Given the description of an element on the screen output the (x, y) to click on. 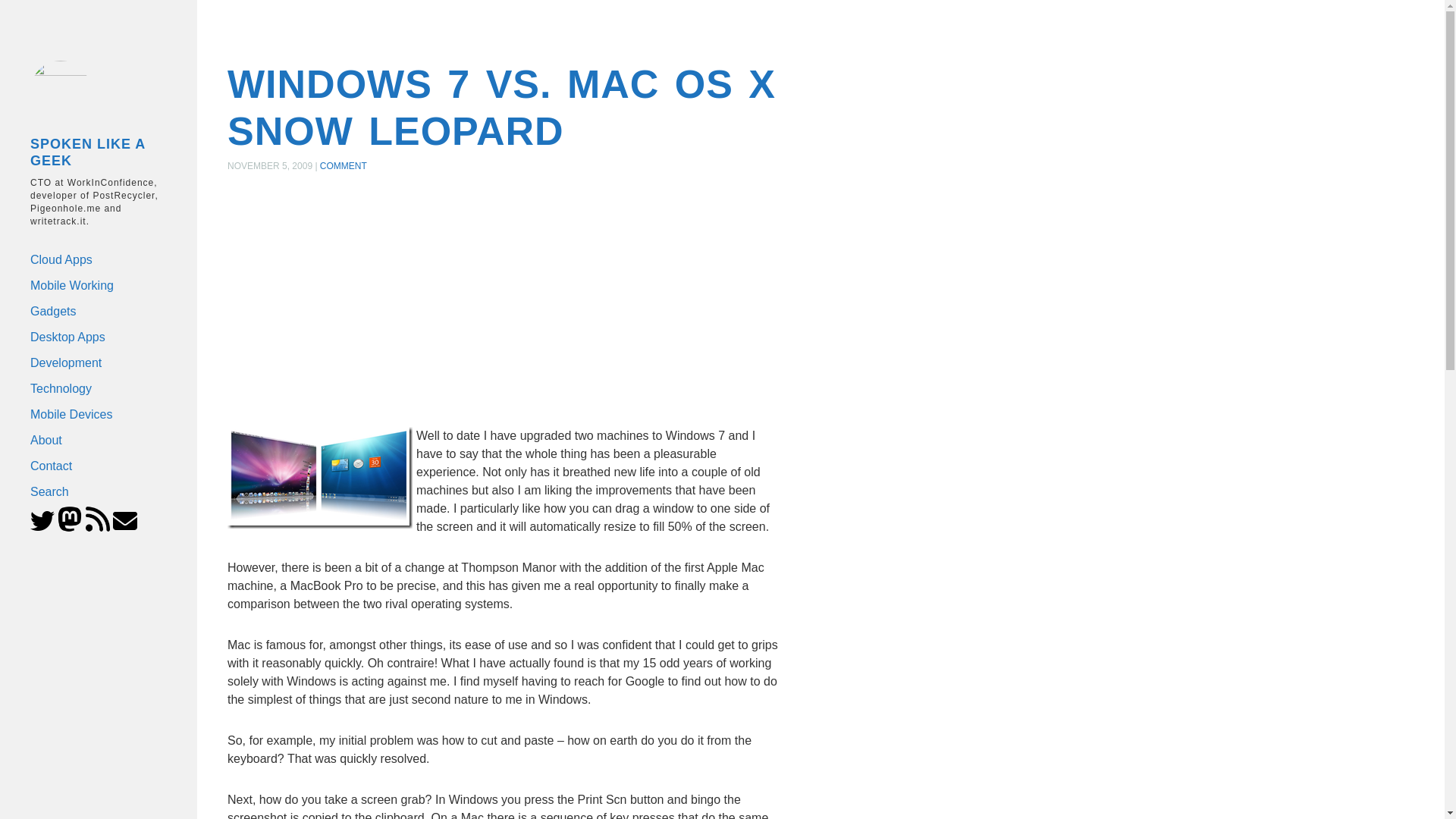
Cloud Apps (84, 259)
Development (86, 362)
Desktop Apps (85, 337)
COMMENT (343, 165)
About (89, 440)
Mobile Devices (88, 414)
Gadgets (85, 311)
SPOKEN LIKE A GEEK (73, 152)
Contact (90, 466)
Technology (87, 388)
